Given the description of an element on the screen output the (x, y) to click on. 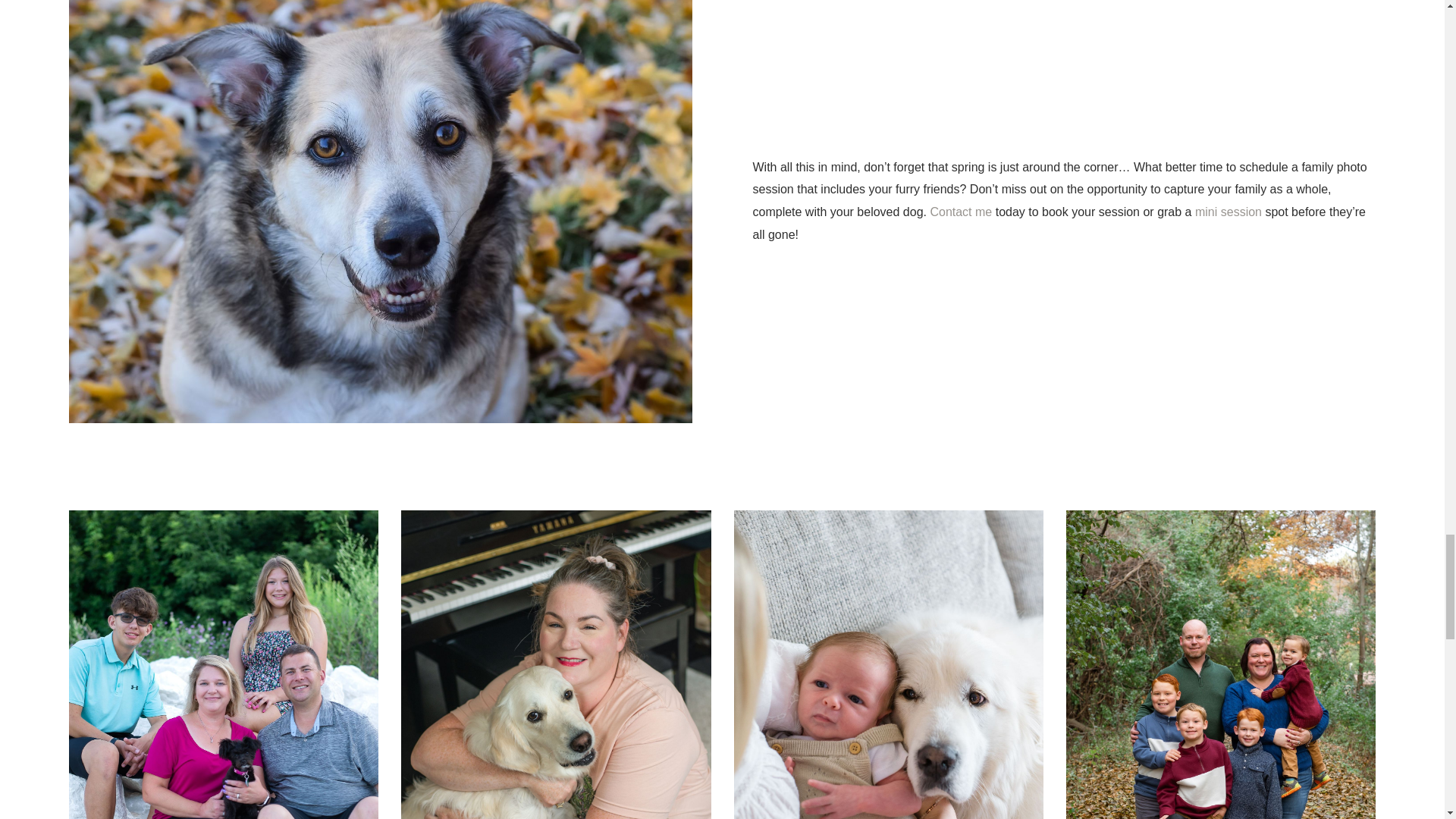
mini session (1228, 211)
Contact me (960, 211)
